Given the description of an element on the screen output the (x, y) to click on. 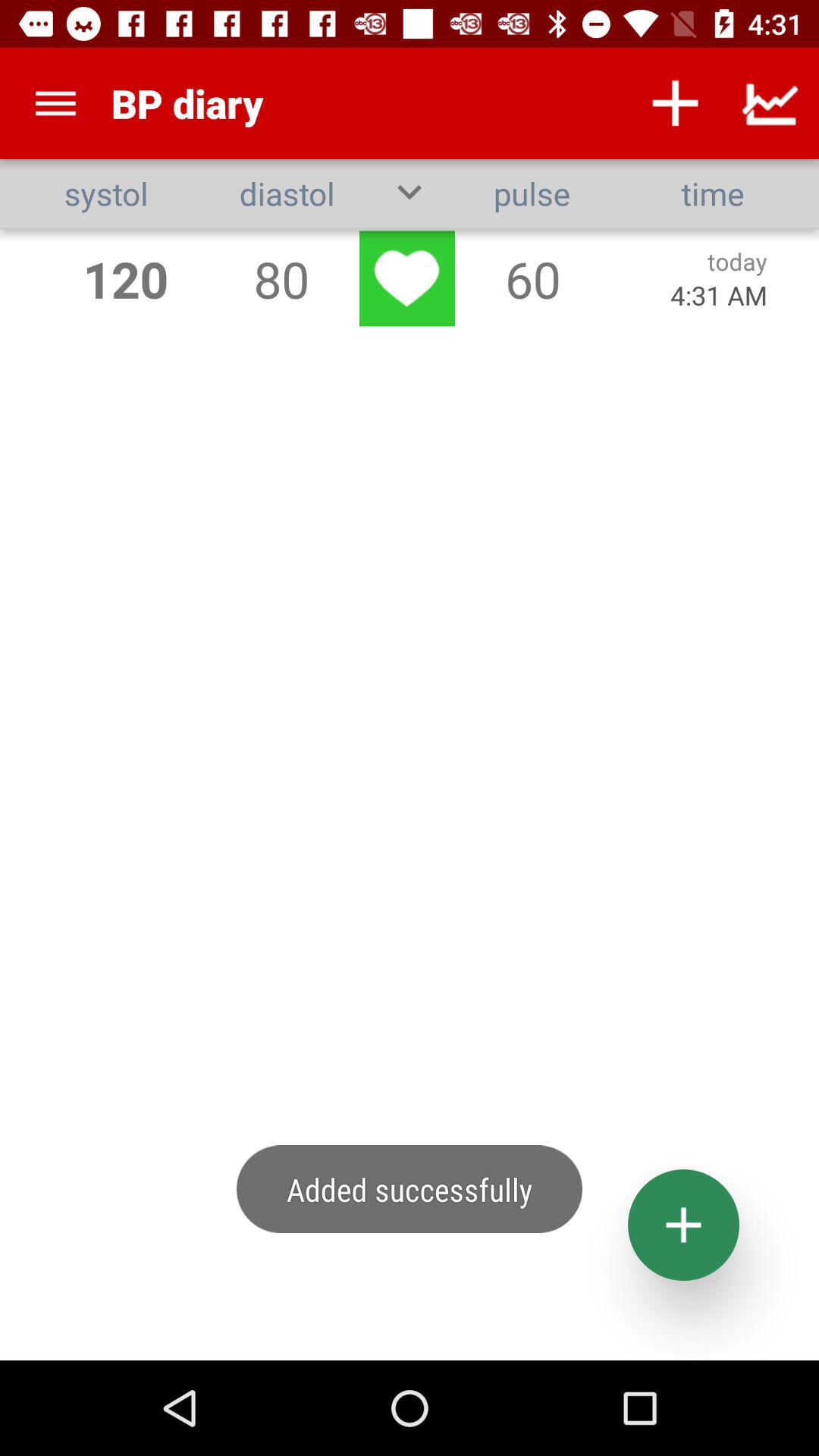
turn off icon next to the bp diary (55, 103)
